Given the description of an element on the screen output the (x, y) to click on. 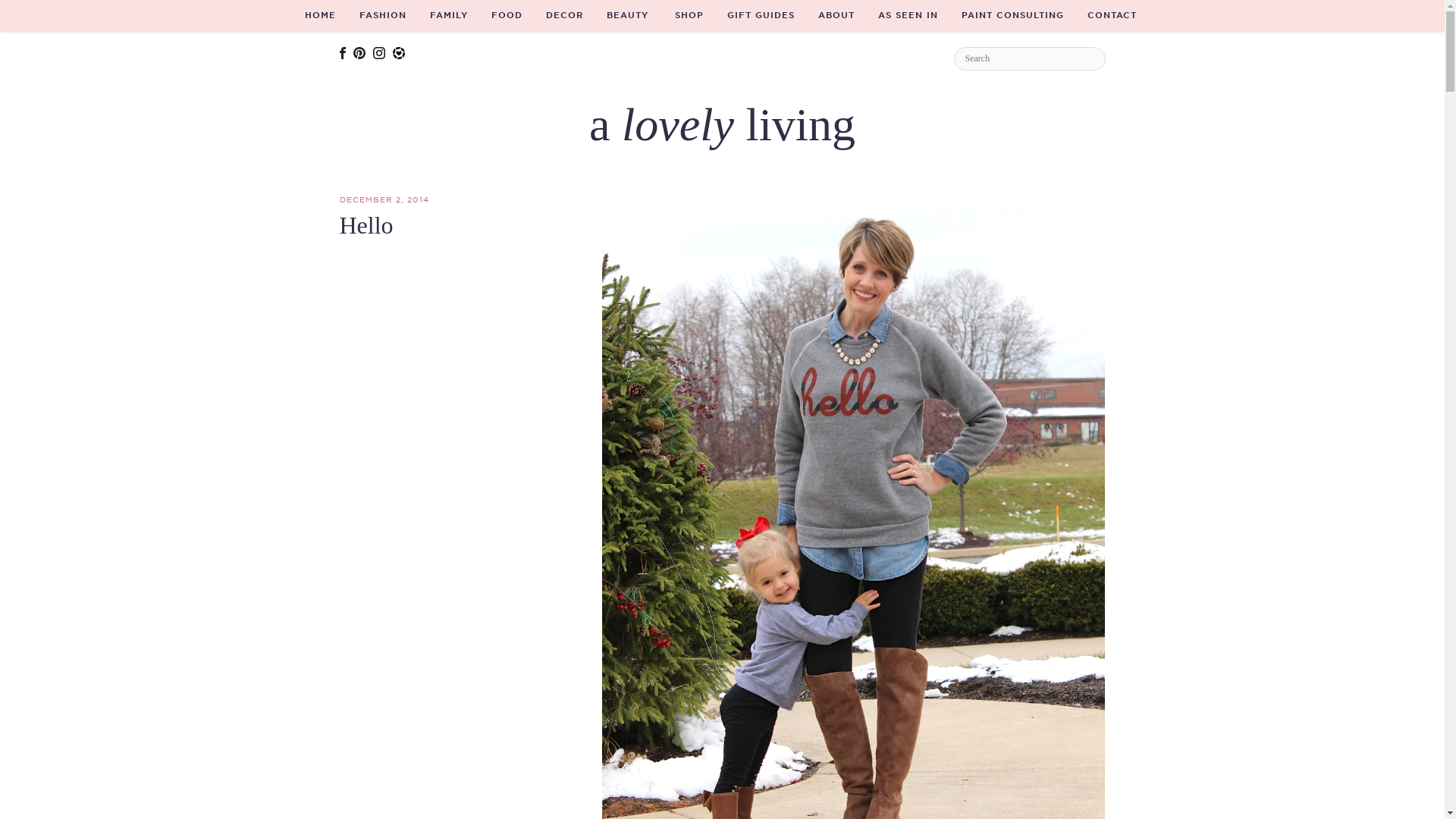
FAMILY (449, 15)
GIFT GUIDES (761, 15)
Hello (366, 224)
BEAUTY (627, 15)
HOME (320, 15)
Hello (366, 224)
SHOP (688, 15)
AS SEEN IN (907, 15)
DECOR (564, 15)
FASHION (382, 15)
a lovely living (722, 123)
ABOUT (836, 15)
PAINT CONSULTING (1012, 15)
CONTACT (1111, 15)
FOOD (507, 15)
